Given the description of an element on the screen output the (x, y) to click on. 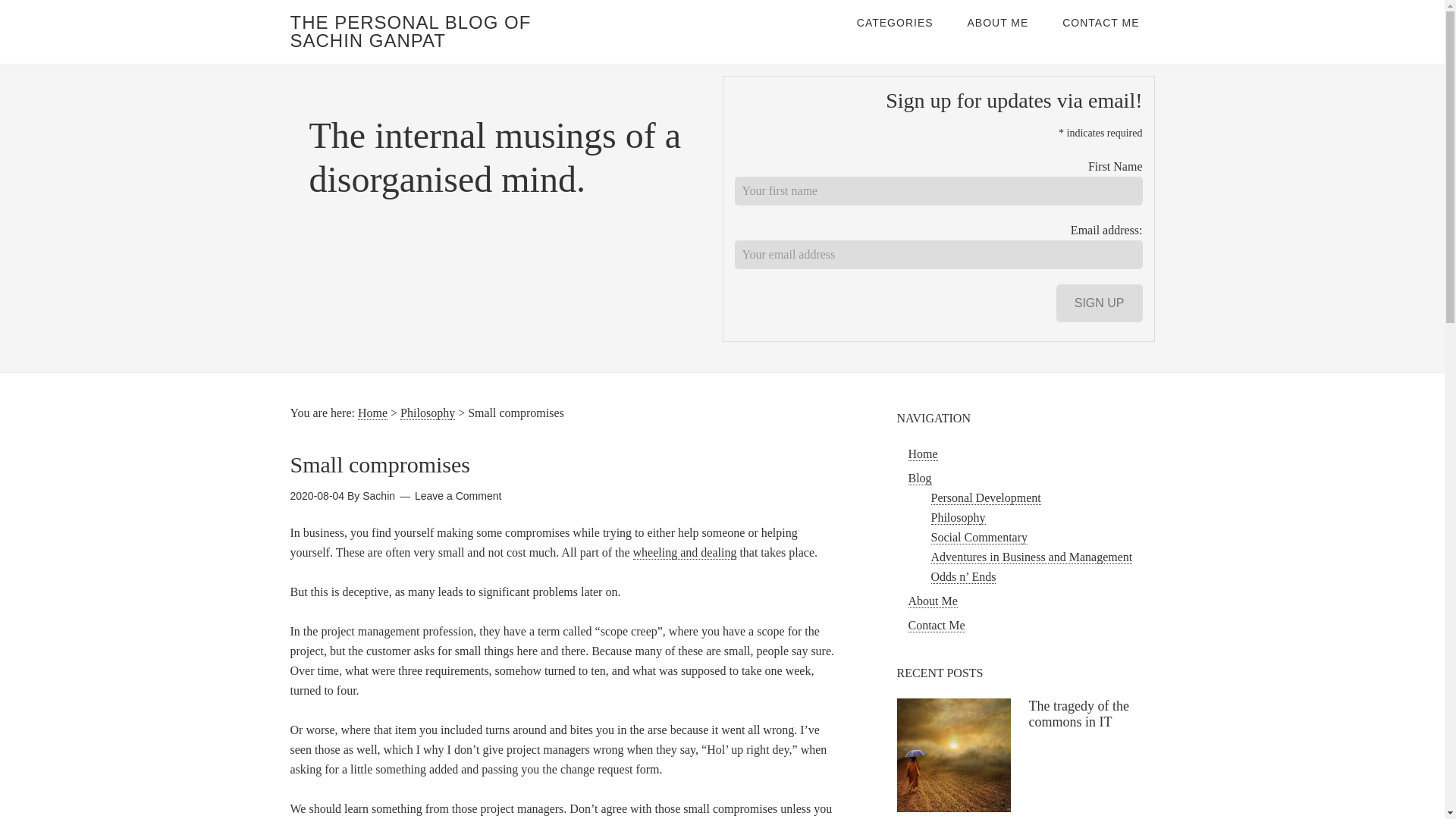
Personal Development (986, 498)
wheeling and dealing (684, 552)
Philosophy (427, 413)
ABOUT ME (997, 22)
THE PERSONAL BLOG OF SACHIN GANPAT (410, 31)
CATEGORIES (895, 22)
CONTACT ME (1100, 22)
Sachin (378, 495)
Adventures in Business and Management (1031, 557)
Home (922, 454)
